Given the description of an element on the screen output the (x, y) to click on. 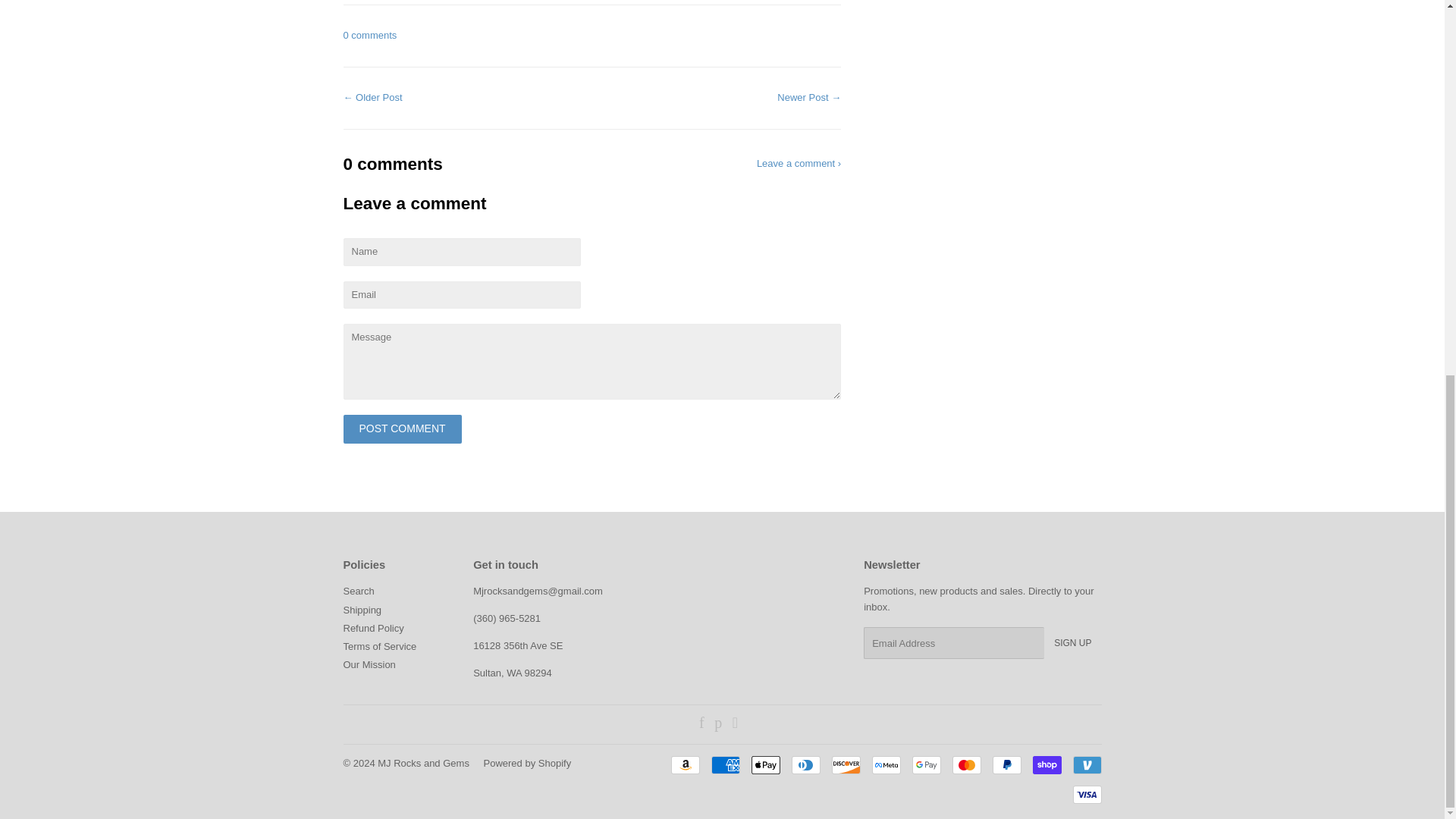
Venmo (1085, 764)
PayPal (1005, 764)
Discover (845, 764)
Amazon (683, 764)
Mastercard (966, 764)
MJ Rocks and Gems on Facebook (701, 724)
Google Pay (925, 764)
Meta Pay (886, 764)
Shop Pay (1046, 764)
Visa (1085, 794)
Post comment (401, 428)
Apple Pay (764, 764)
American Express (725, 764)
MJ Rocks and Gems on Pinterest (718, 724)
Diners Club (806, 764)
